Given the description of an element on the screen output the (x, y) to click on. 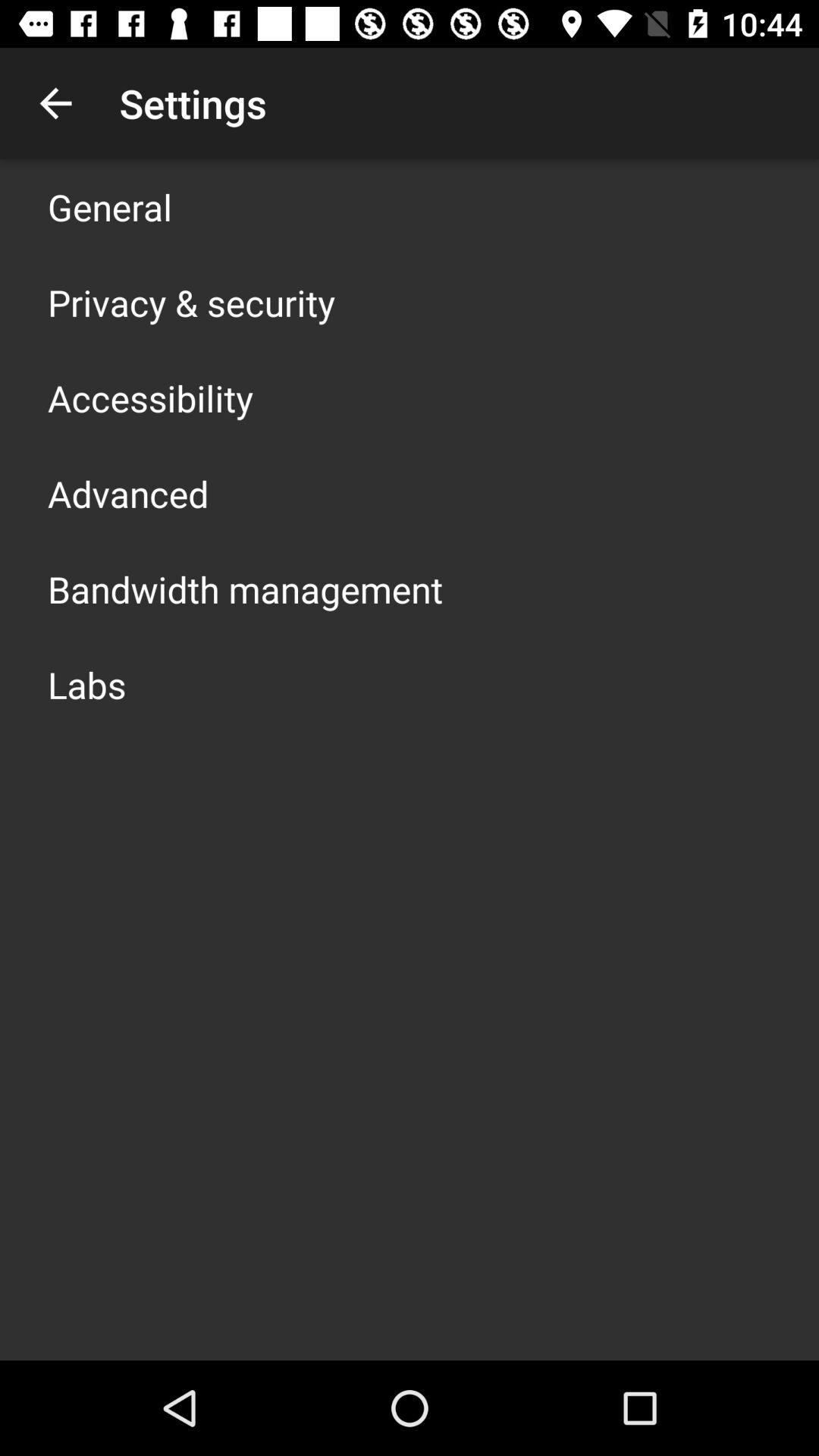
select the bandwidth management icon (245, 588)
